Given the description of an element on the screen output the (x, y) to click on. 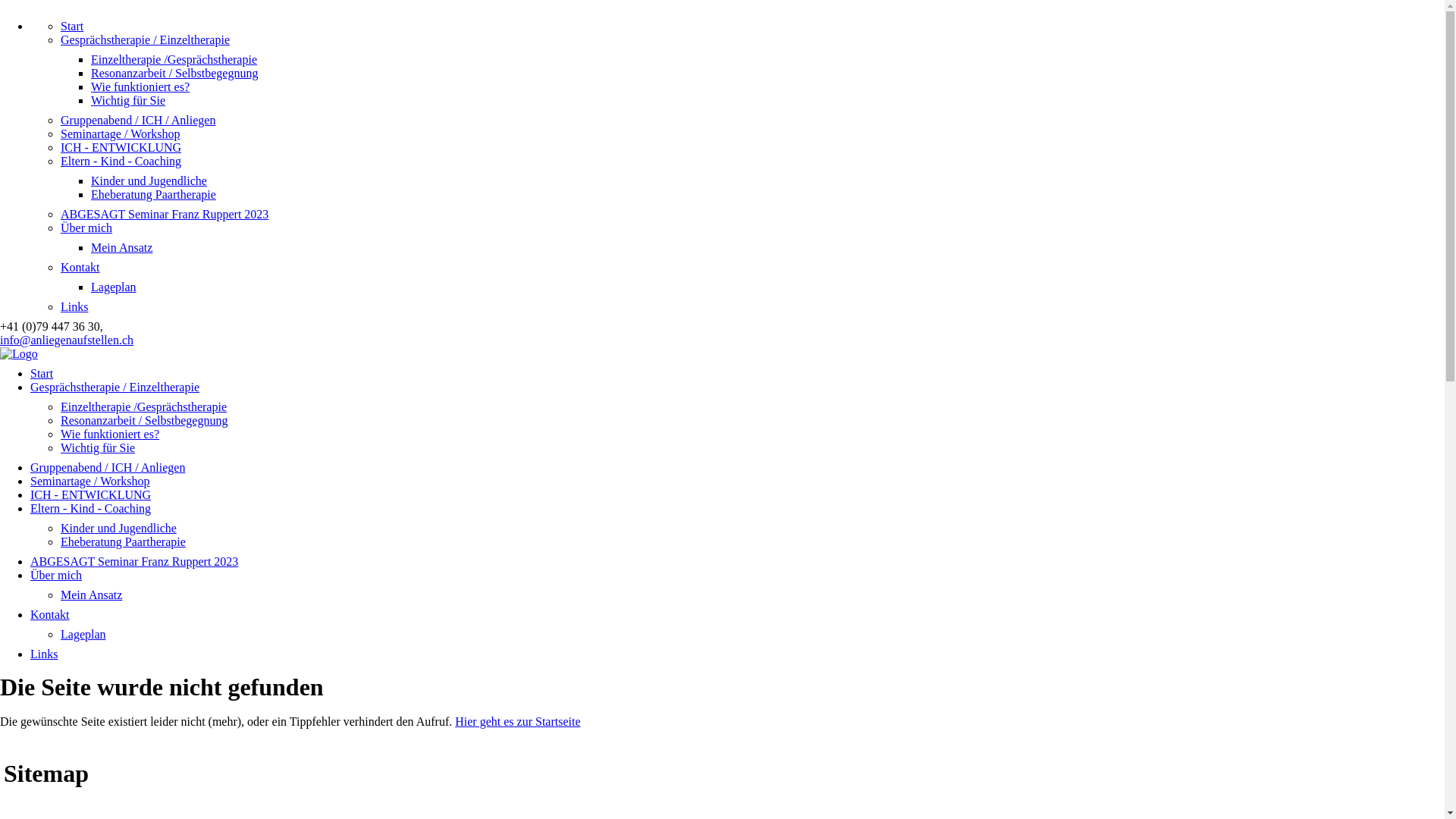
Eltern - Kind - Coaching Element type: text (120, 160)
Eltern - Kind - Coaching Element type: text (90, 508)
Links Element type: text (73, 306)
Start Element type: text (71, 25)
info@anliegenaufstellen.ch Element type: text (66, 339)
Resonanzarbeit / Selbstbegegnung Element type: text (143, 420)
ABGESAGT Seminar Franz Ruppert 2023 Element type: text (164, 213)
Eheberatung Paartherapie Element type: text (153, 194)
Hier geht es zur Startseite Element type: text (517, 721)
ICH - ENTWICKLUNG Element type: text (120, 147)
Resonanzarbeit / Selbstbegegnung Element type: text (174, 72)
Lageplan Element type: text (83, 633)
Seminartage / Workshop Element type: text (120, 133)
Seminartage / Workshop Element type: text (90, 480)
Eheberatung Paartherapie Element type: text (122, 541)
Wie funktioniert es? Element type: text (109, 433)
Kontakt Element type: text (49, 614)
Links Element type: text (43, 653)
Mein Ansatz Element type: text (91, 594)
ICH - ENTWICKLUNG Element type: text (90, 494)
Start Element type: text (41, 373)
Wie funktioniert es? Element type: text (140, 86)
Gruppenabend / ICH / Anliegen Element type: text (137, 119)
Gruppenabend / ICH / Anliegen Element type: text (107, 467)
Kontakt Element type: text (80, 266)
Lageplan Element type: text (113, 286)
Mein Ansatz Element type: text (121, 247)
Kinder und Jugendliche Element type: text (118, 527)
Kinder und Jugendliche Element type: text (149, 180)
ABGESAGT Seminar Franz Ruppert 2023 Element type: text (134, 561)
